Given the description of an element on the screen output the (x, y) to click on. 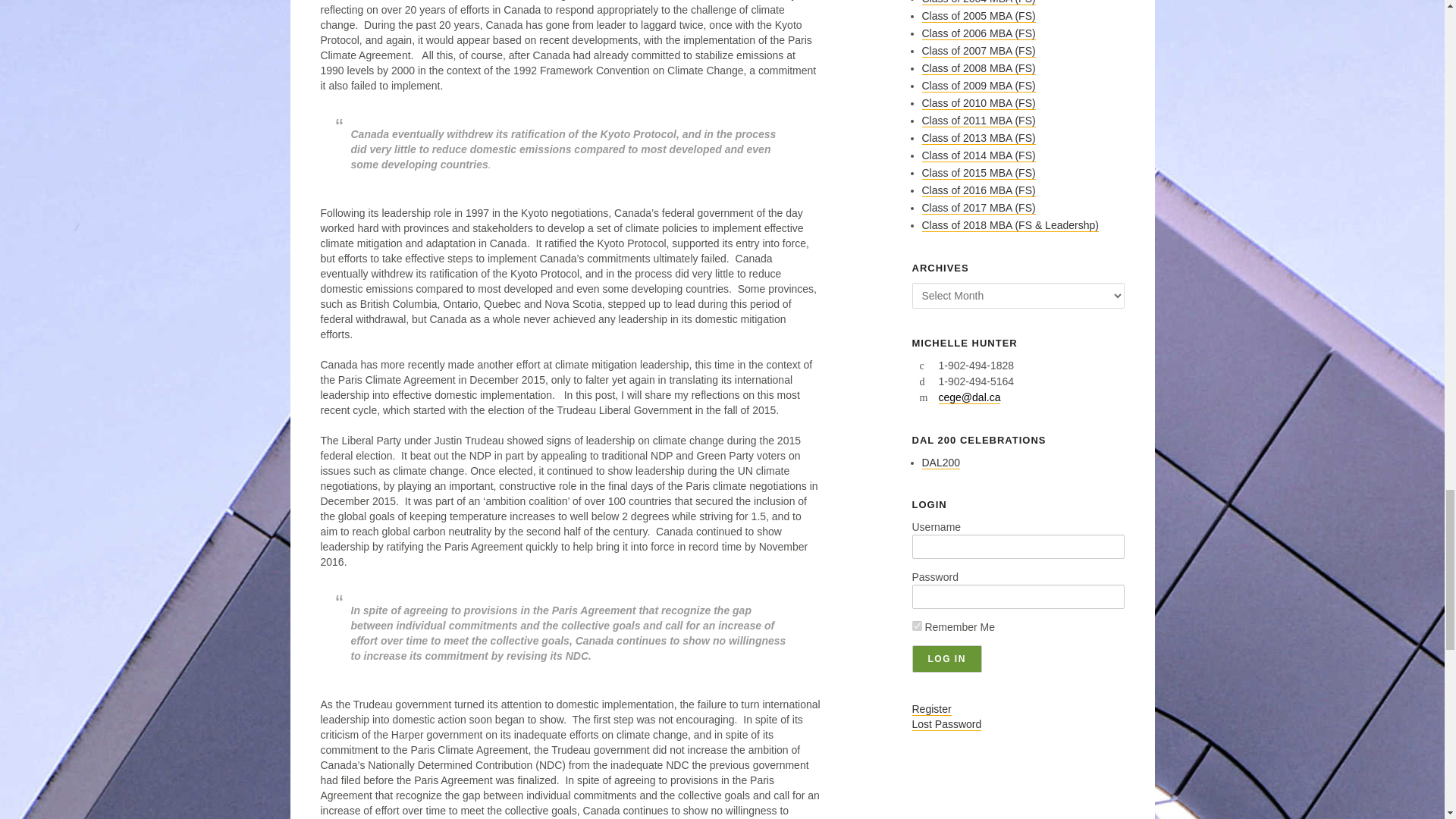
Log In (946, 658)
forever (916, 625)
